Given the description of an element on the screen output the (x, y) to click on. 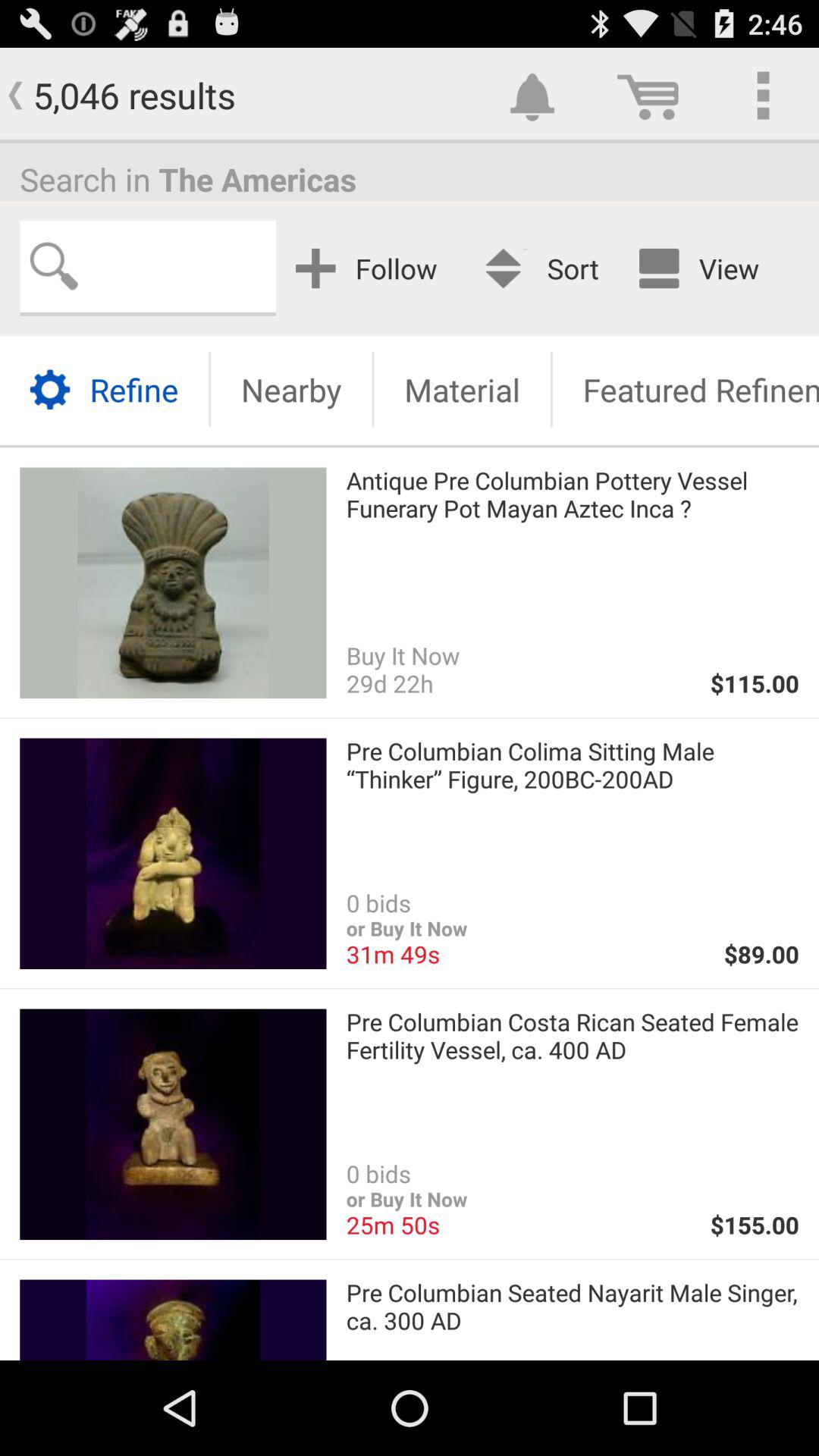
choose app to the left of best match icon (371, 268)
